Given the description of an element on the screen output the (x, y) to click on. 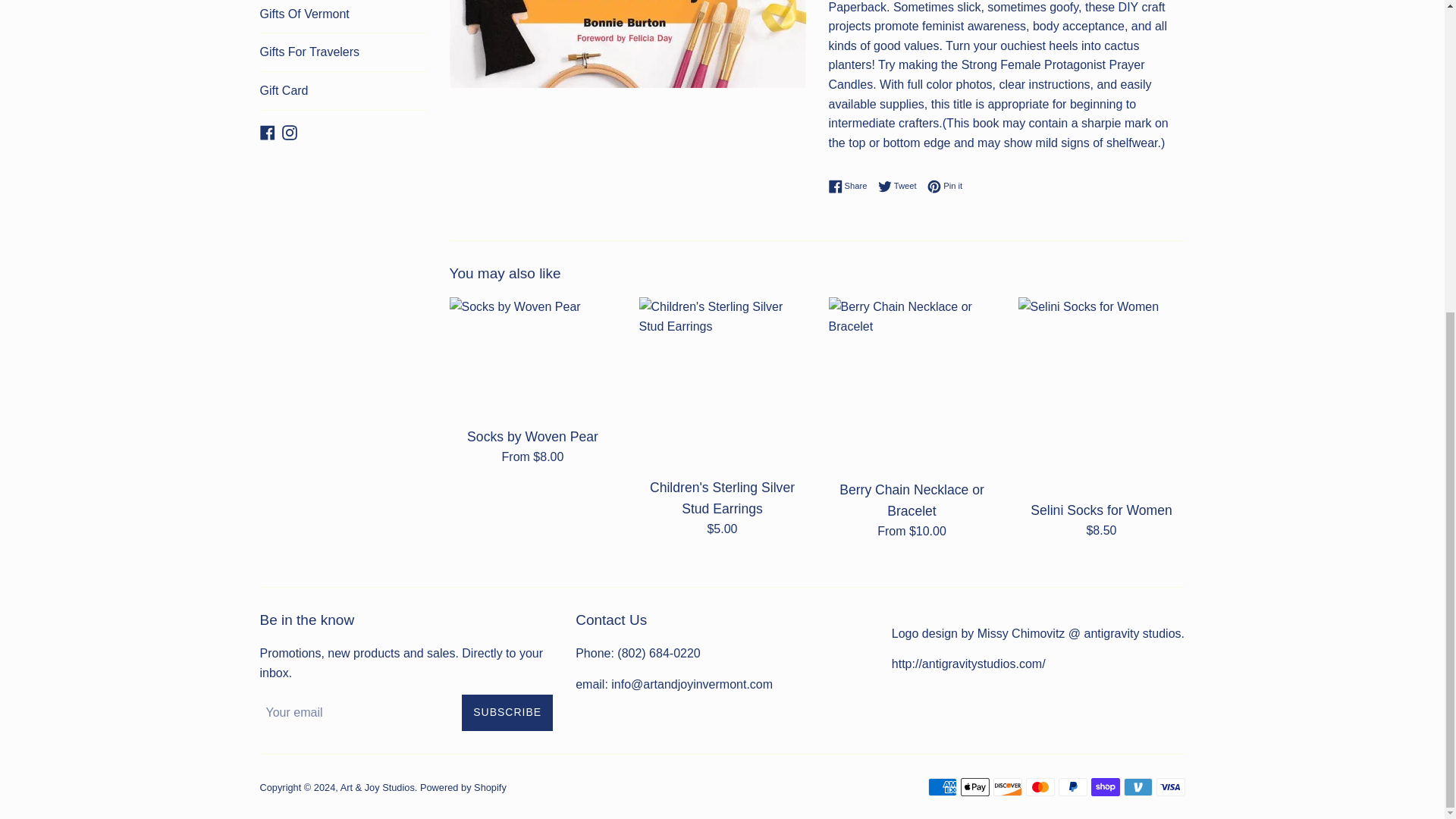
Shop Pay (1104, 787)
Children's Sterling Silver Stud Earrings (722, 382)
American Express (942, 787)
Pin on Pinterest (944, 186)
Berry Chain Necklace or Bracelet (911, 384)
Share on Facebook (851, 186)
Apple Pay (973, 787)
PayPal (1072, 787)
Mastercard (1039, 787)
Socks by Woven Pear (531, 357)
